Given the description of an element on the screen output the (x, y) to click on. 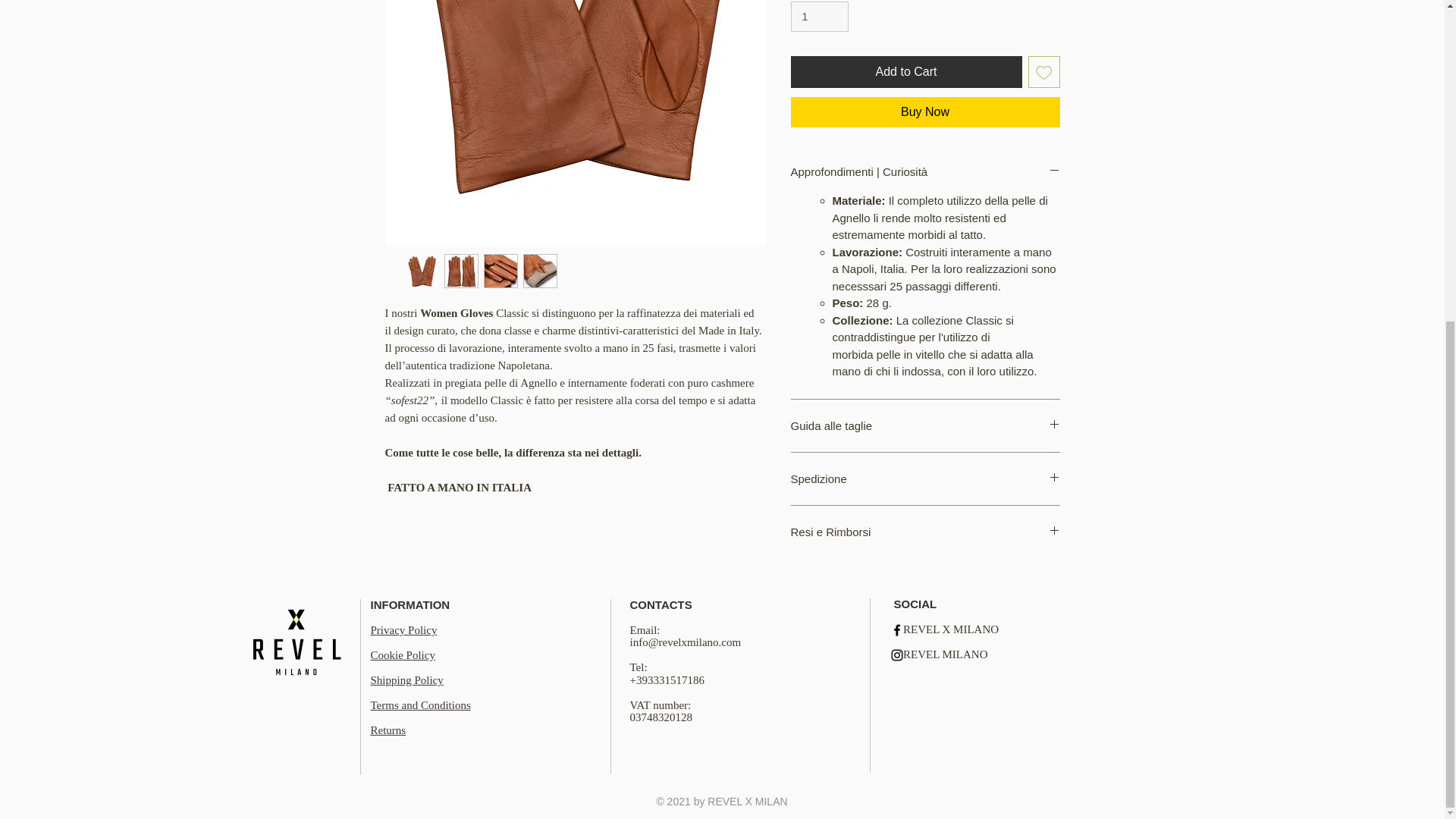
Guida alle taglie (924, 425)
Spedizione (924, 478)
Privacy Policy (402, 630)
Buy Now (924, 112)
Shipping Policy (405, 680)
Cookie Policy (401, 654)
Resi e Rimborsi (924, 531)
1 (818, 16)
Terms and Conditions (419, 705)
Add to Cart (906, 71)
